Given the description of an element on the screen output the (x, y) to click on. 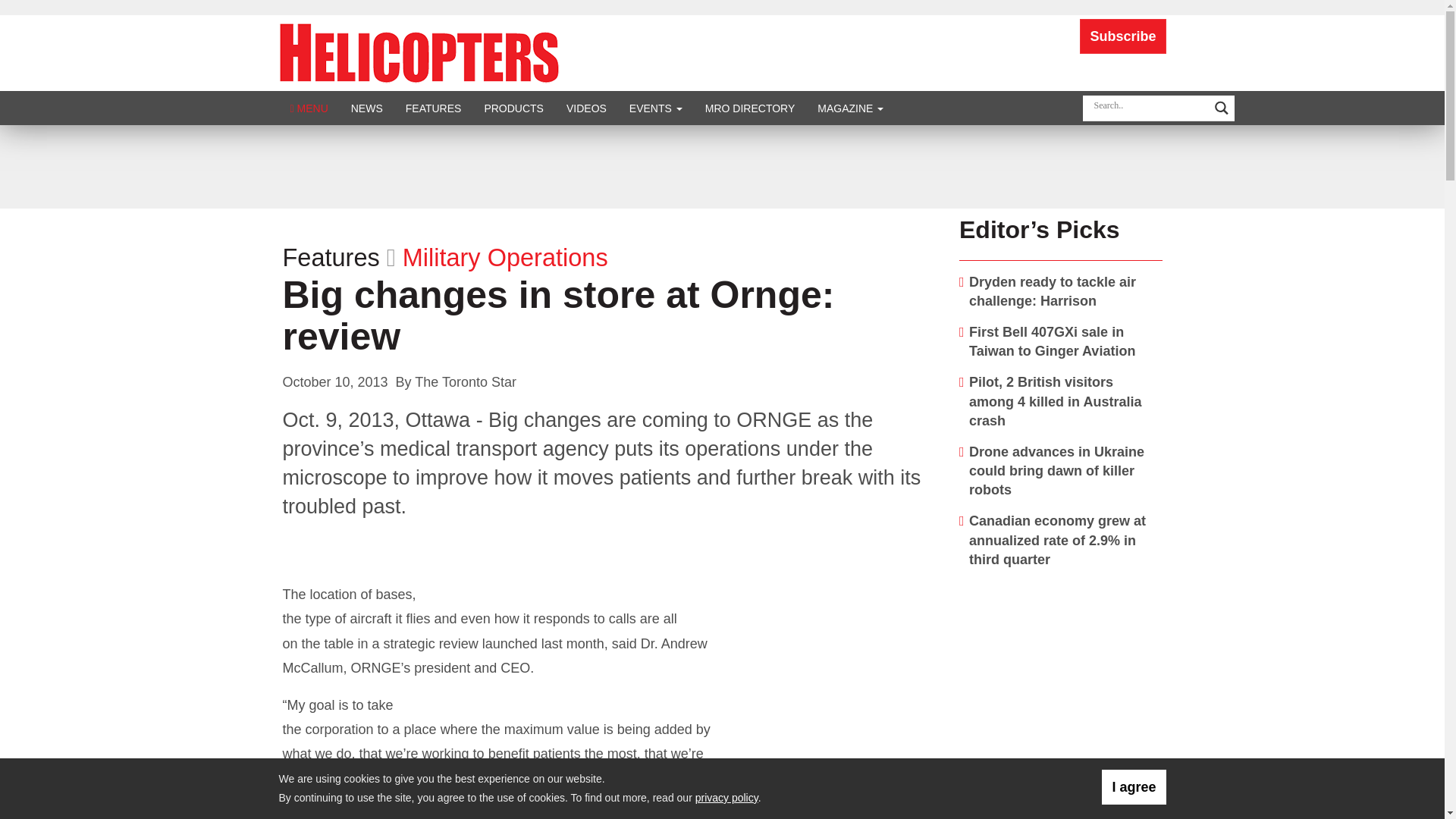
MAGAZINE (850, 107)
MENU (309, 107)
MRO DIRECTORY (750, 107)
VIDEOS (585, 107)
EVENTS (655, 107)
FEATURES (433, 107)
Subscribe (1123, 36)
PRODUCTS (512, 107)
3rd party ad content (1060, 676)
Click to show site navigation (309, 107)
3rd party ad content (721, 166)
Helicopters Magazine (419, 52)
NEWS (366, 107)
